Given the description of an element on the screen output the (x, y) to click on. 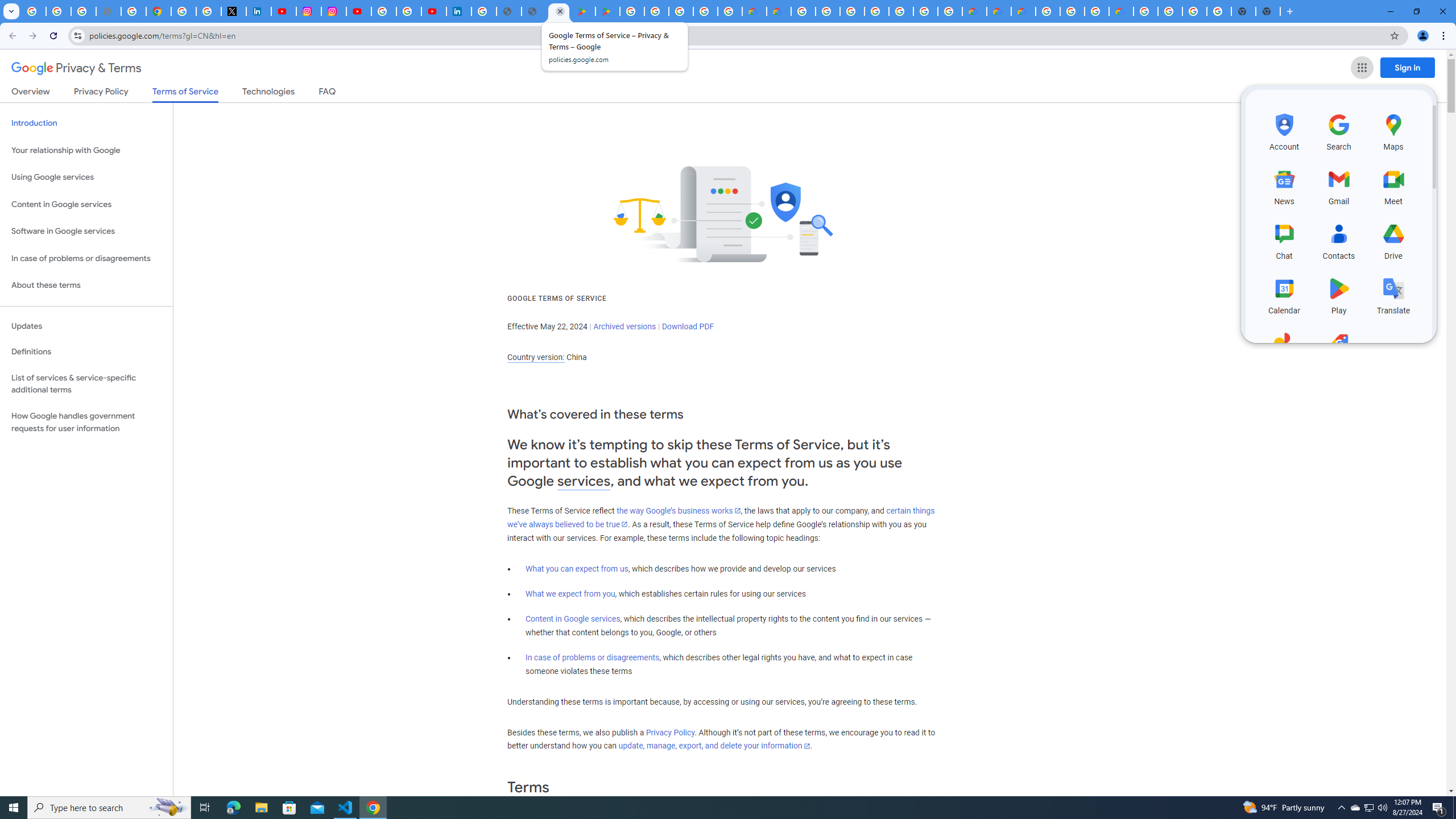
Identity verification via Persona | LinkedIn Help (458, 11)
services (583, 480)
Terms of Service (184, 94)
FAQ (327, 93)
What we expect from you (570, 593)
Chrome (1445, 35)
Browse Chrome as a guest - Computer - Google Chrome Help (1095, 11)
User Details (533, 11)
Sign in - Google Accounts (483, 11)
